Given the description of an element on the screen output the (x, y) to click on. 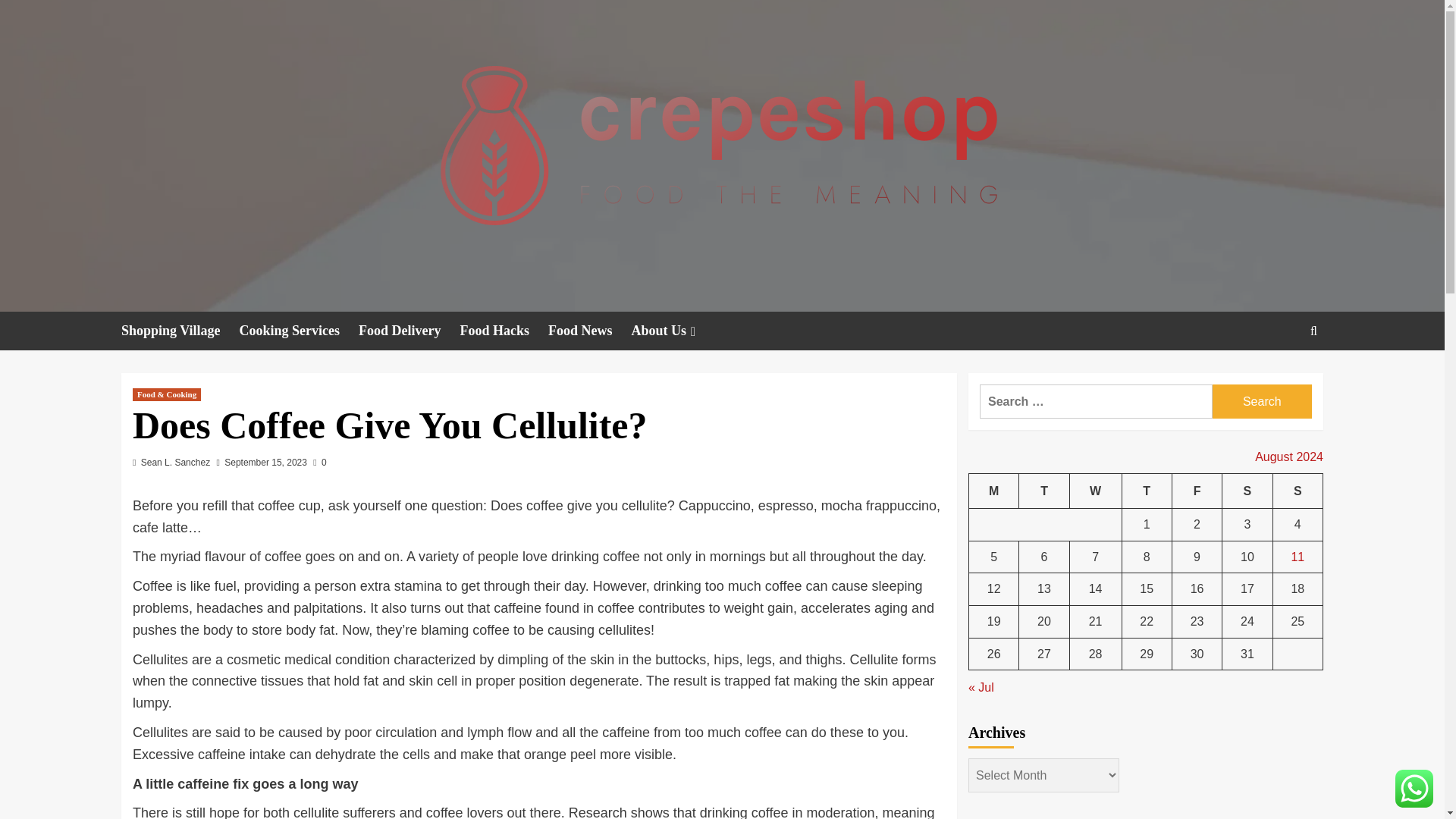
Friday (1196, 490)
Tuesday (1043, 490)
Saturday (1247, 490)
Sunday (1297, 490)
Cooking Services (299, 331)
September 15, 2023 (265, 462)
Search (1261, 401)
About Us (675, 331)
Search (1278, 377)
Sean L. Sanchez (175, 462)
